Given the description of an element on the screen output the (x, y) to click on. 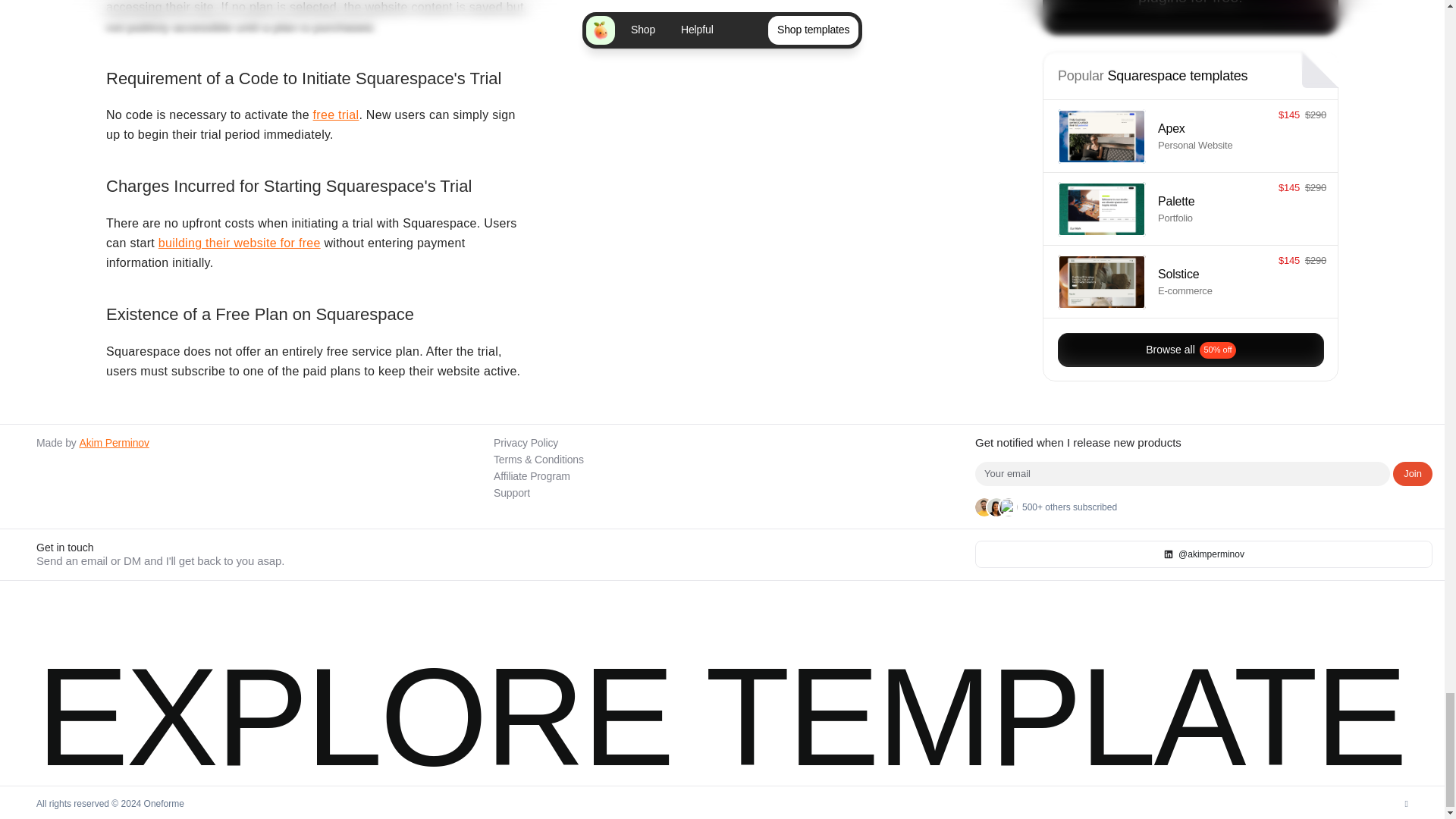
Join (1412, 473)
Privacy Policy (525, 442)
Support (511, 492)
Join (1412, 473)
EXPLORE TEMPLATES (458, 684)
building their website for free (239, 242)
free trial (336, 114)
Akim Perminov (113, 442)
Affiliate Program (531, 476)
